Given the description of an element on the screen output the (x, y) to click on. 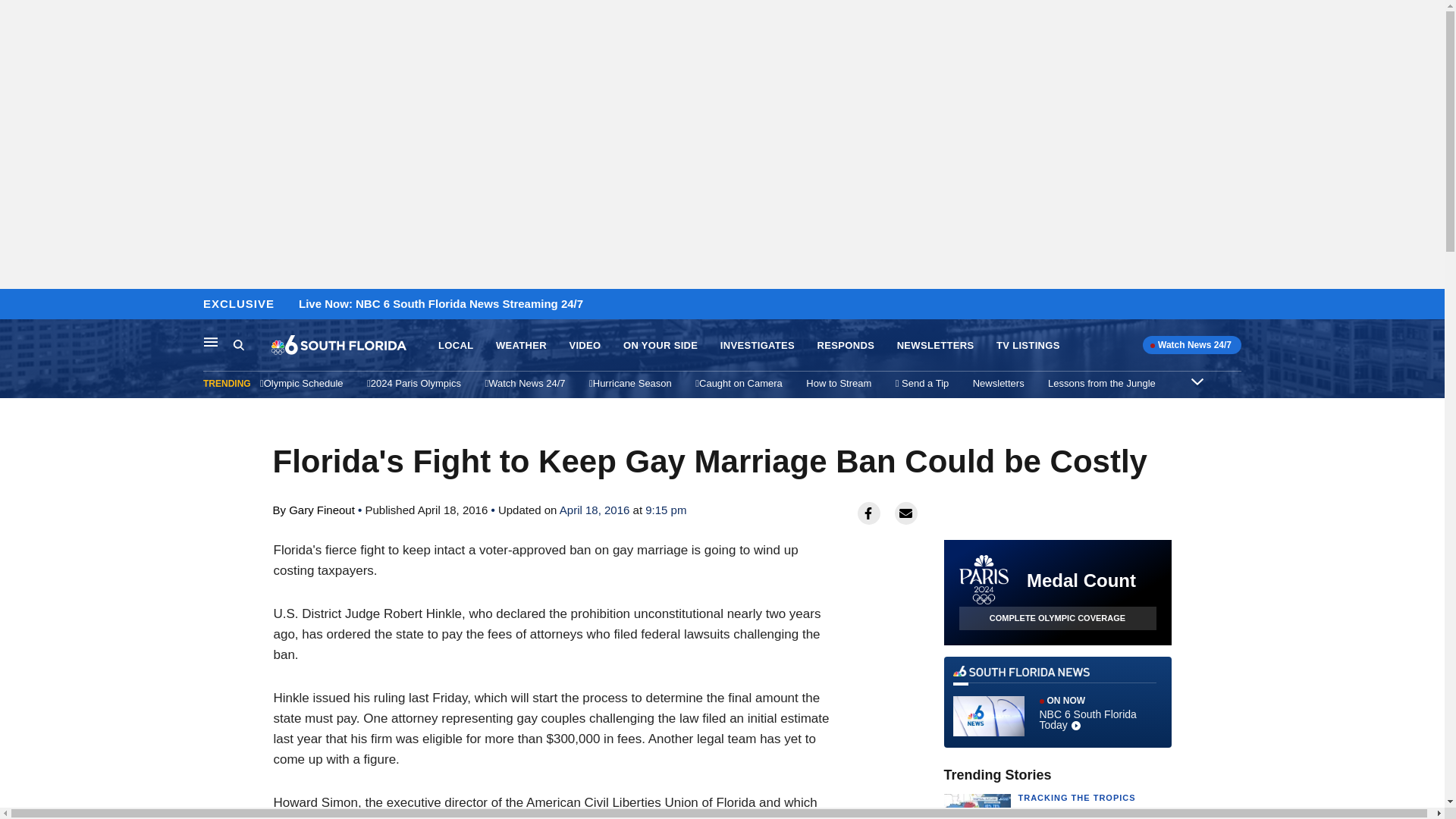
Lessons from the Jungle (1102, 383)
INVESTIGATES (757, 345)
Main Navigation (210, 341)
Search (252, 345)
NEWSLETTERS (935, 345)
VIDEO (584, 345)
LOCAL (455, 345)
Skip to content (16, 304)
Expand (1197, 381)
COMPLETE OLYMPIC COVERAGE (1057, 617)
Search (238, 344)
TV LISTINGS (1027, 345)
TRACKING THE TROPICS (1076, 797)
How to Stream (838, 383)
